Given the description of an element on the screen output the (x, y) to click on. 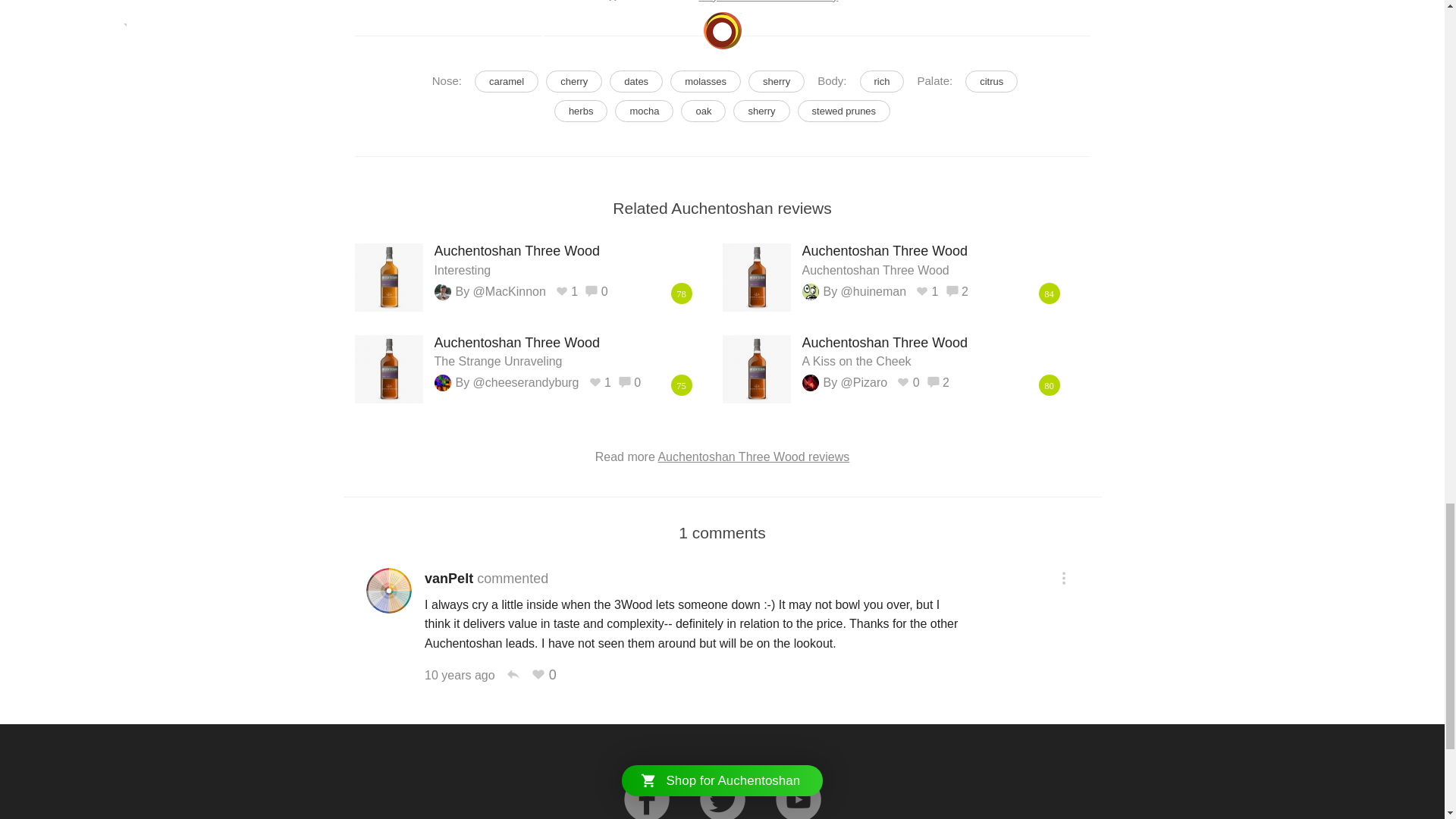
citrus (991, 81)
sherry (761, 110)
oak (703, 110)
cherry (940, 259)
herbs (574, 81)
dates (581, 110)
mocha (636, 81)
caramel (643, 110)
stewed prunes (506, 81)
caramel (844, 110)
molasses (506, 81)
rich (705, 81)
sherry (882, 81)
molasses (776, 81)
